Given the description of an element on the screen output the (x, y) to click on. 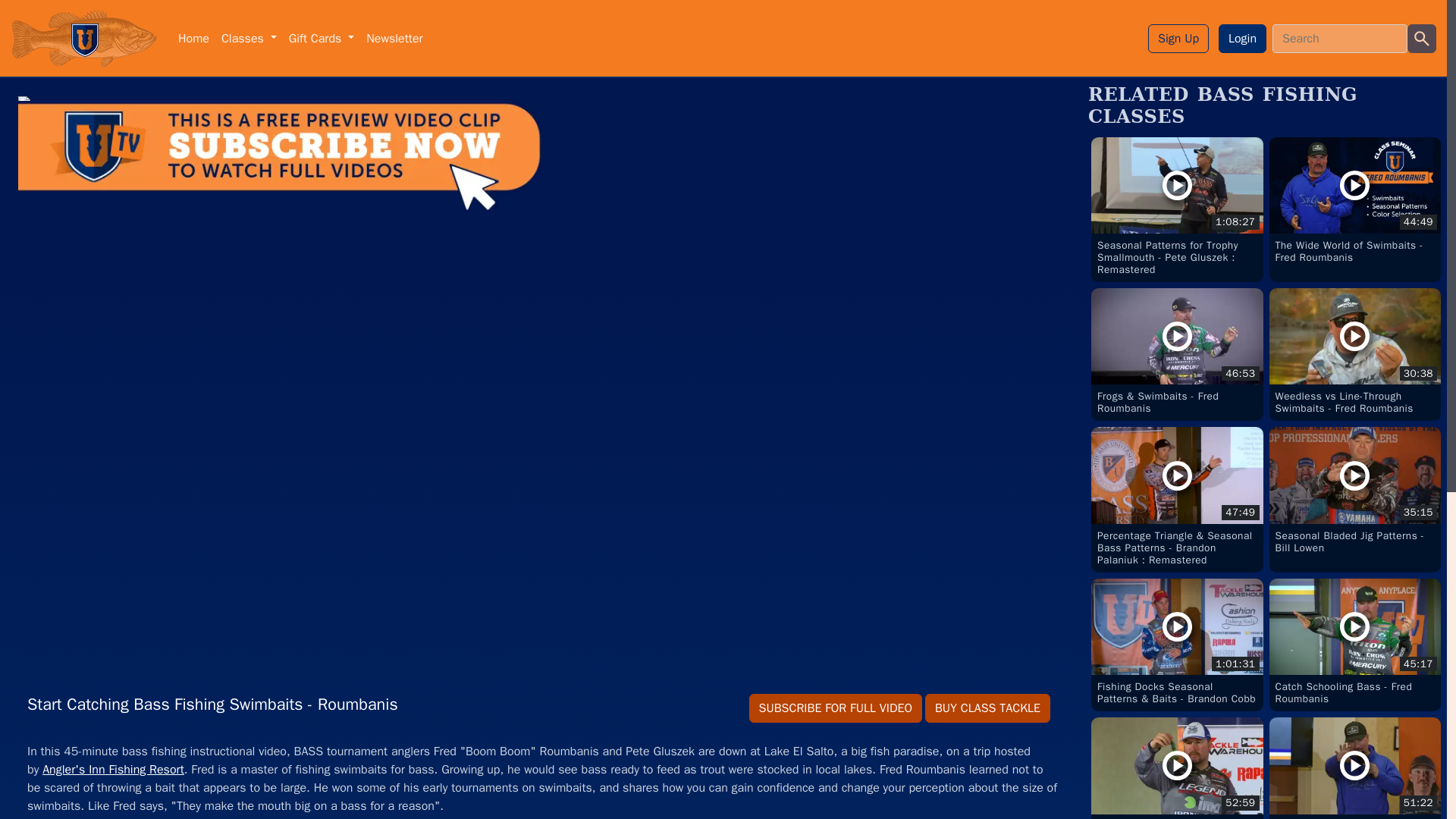
BUY CLASS TACKLE (1355, 354)
Home (1355, 203)
Gift Cards (986, 707)
Classes (193, 37)
Login (321, 37)
Newsletter (1355, 644)
